Given the description of an element on the screen output the (x, y) to click on. 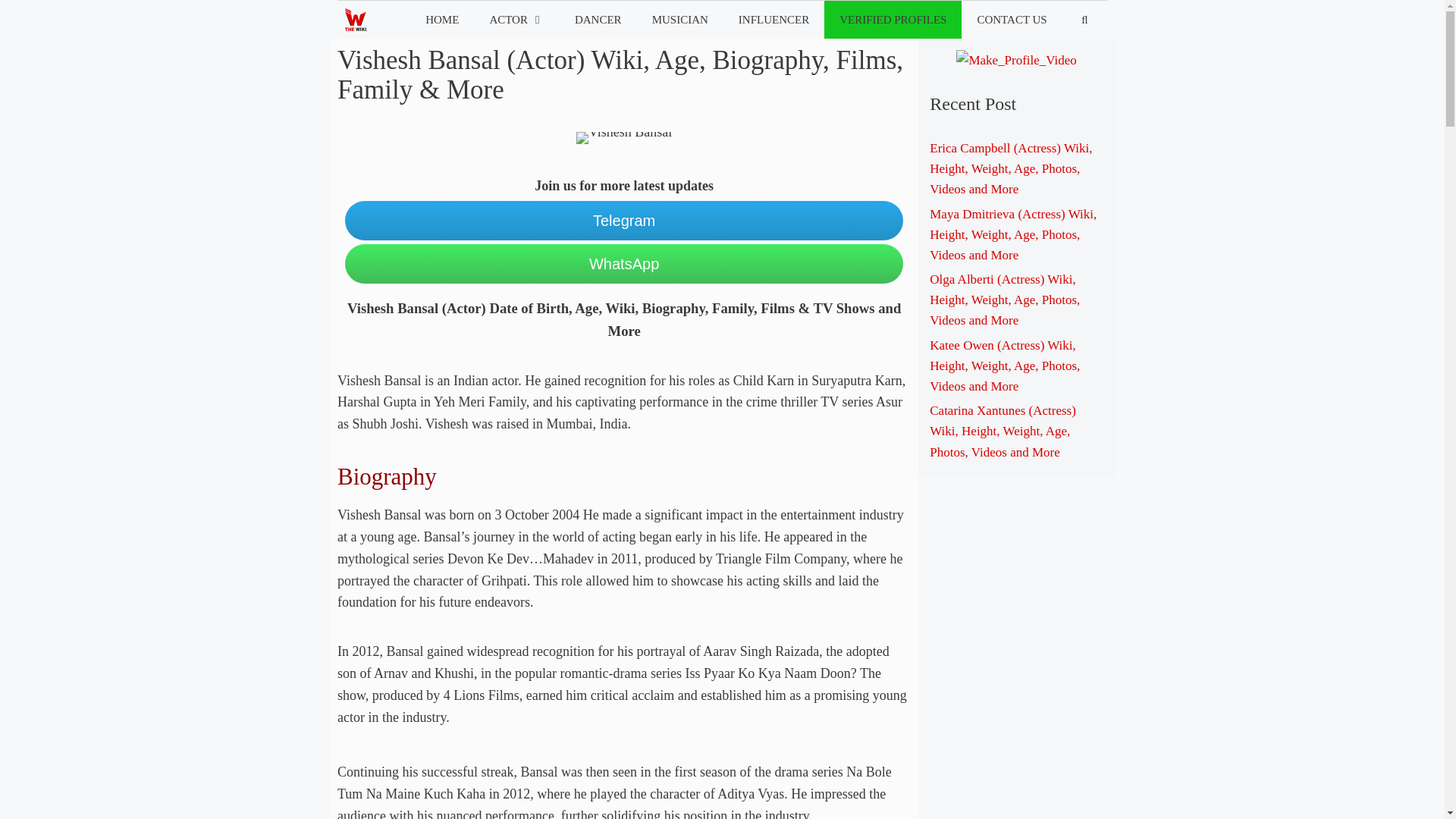
INFLUENCER (773, 19)
DANCER (598, 19)
HOME (442, 19)
ACTOR (516, 19)
VERIFIED PROFILES (892, 19)
CONTACT US (1010, 19)
MUSICIAN (680, 19)
